Given the description of an element on the screen output the (x, y) to click on. 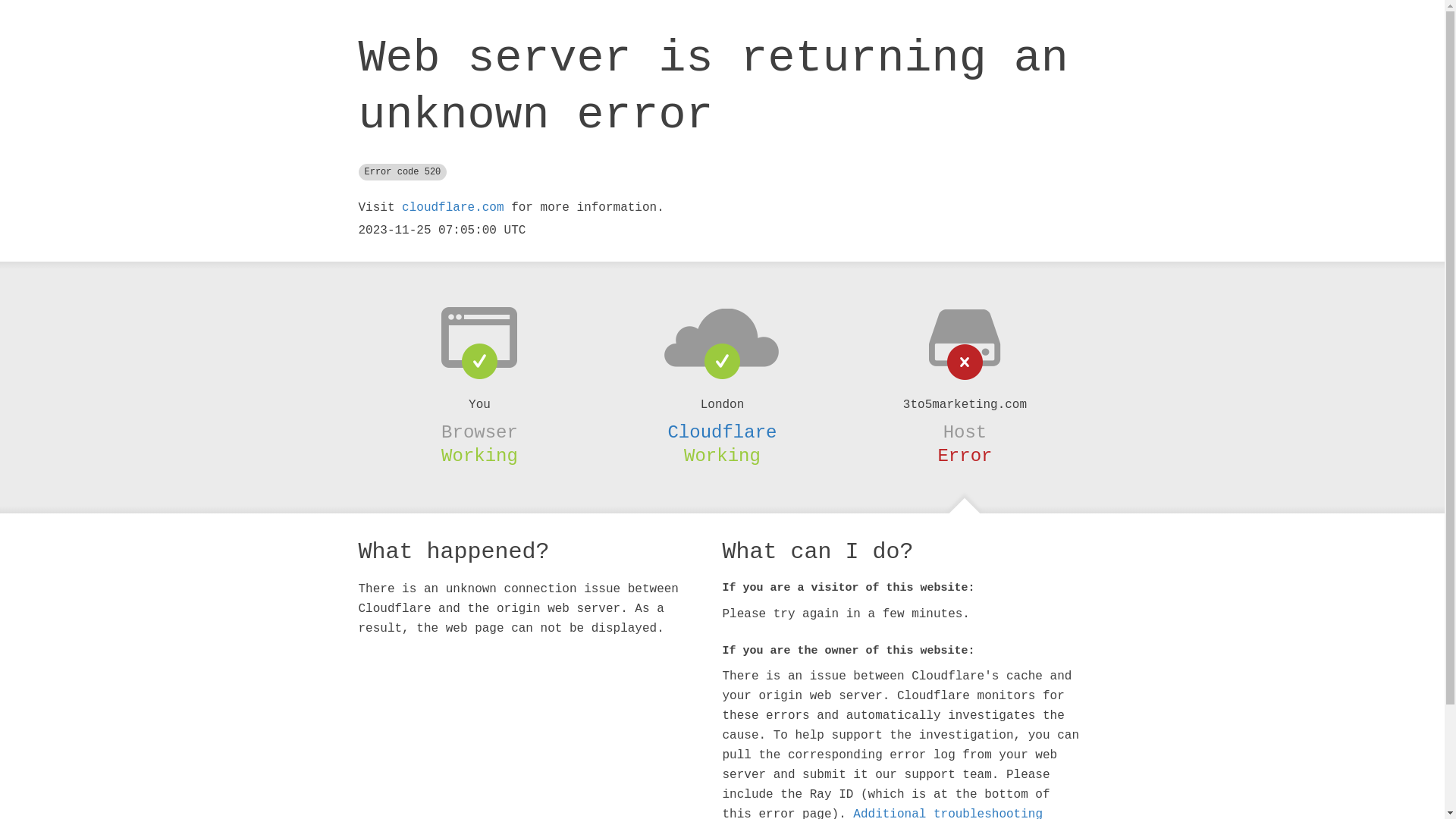
cloudflare.com Element type: text (452, 207)
Cloudflare Element type: text (721, 432)
